Given the description of an element on the screen output the (x, y) to click on. 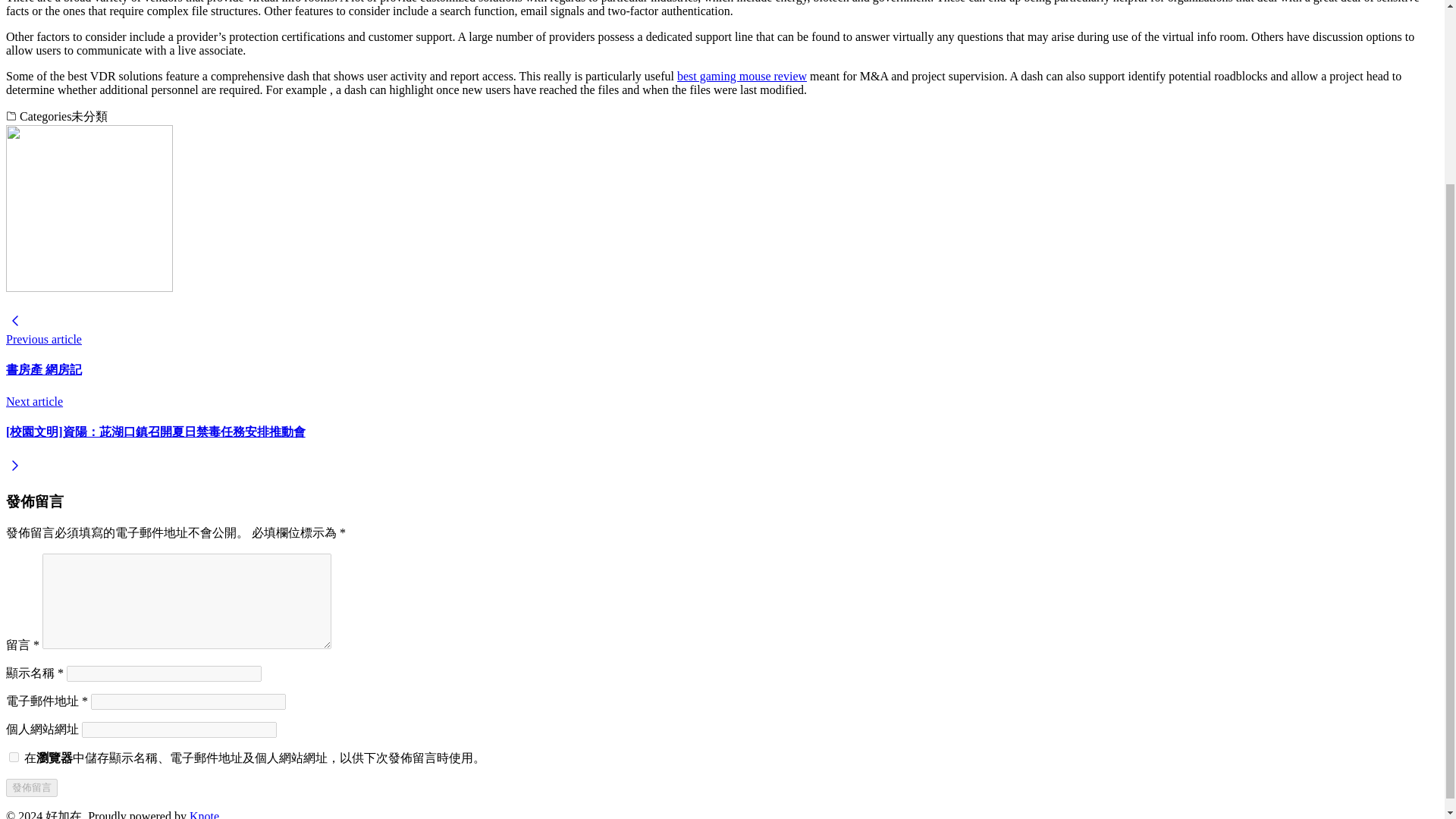
yes (13, 757)
best gaming mouse review (741, 75)
